Given the description of an element on the screen output the (x, y) to click on. 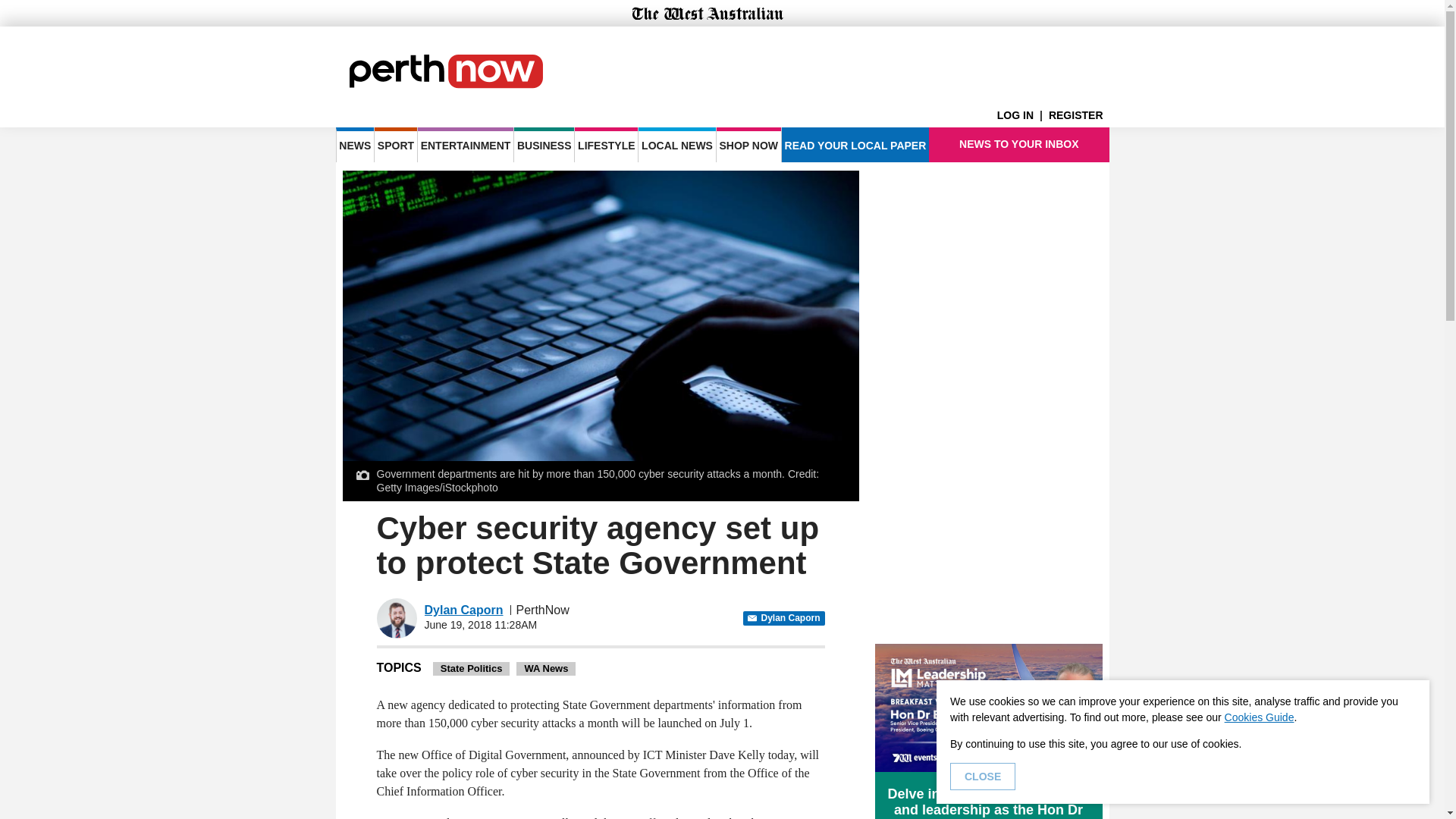
SPORT (395, 144)
REGISTER (1078, 115)
LOG IN (1022, 115)
ENTERTAINMENT (465, 144)
NEWS (354, 144)
